Given the description of an element on the screen output the (x, y) to click on. 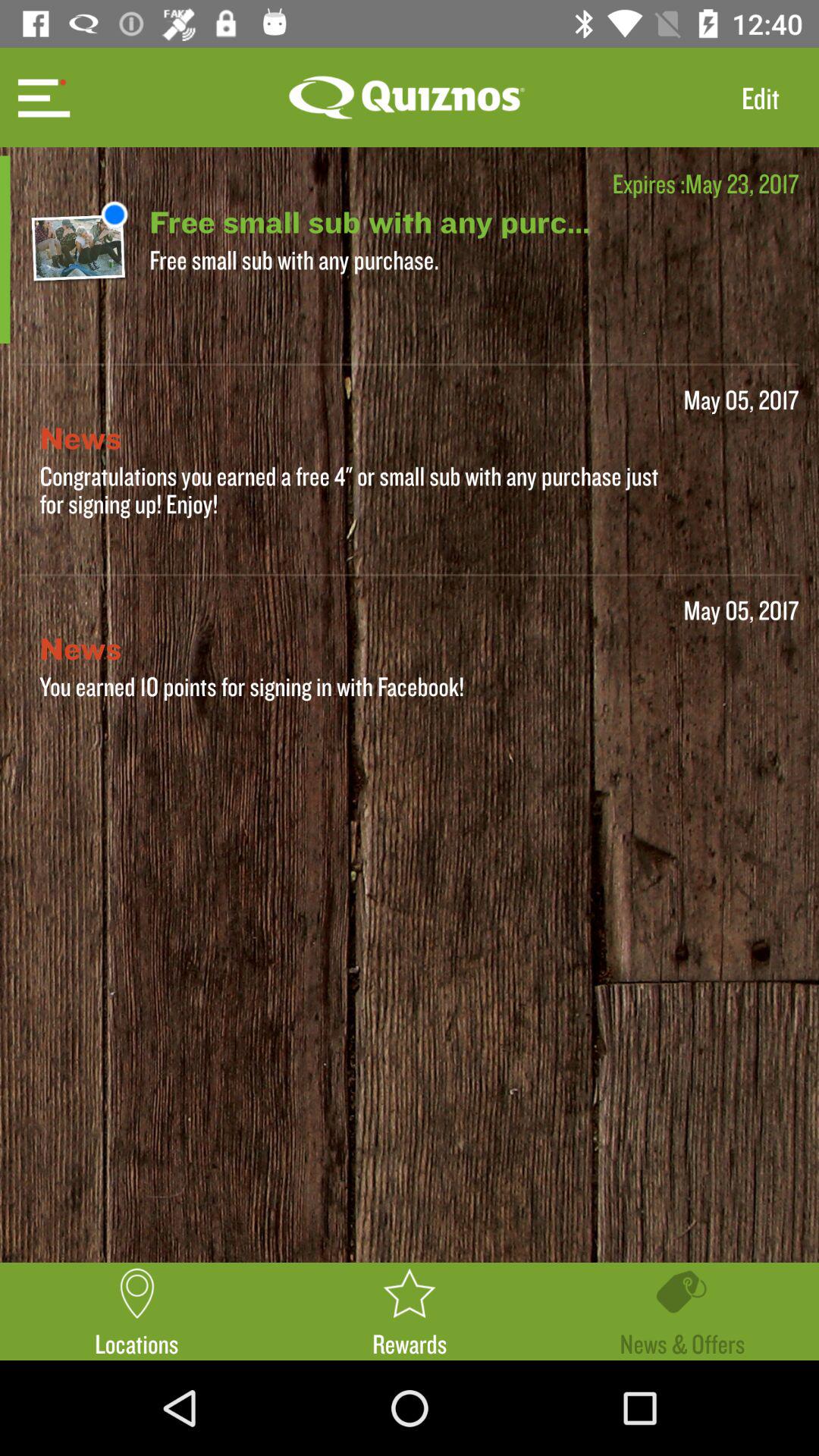
menu button (41, 97)
